Given the description of an element on the screen output the (x, y) to click on. 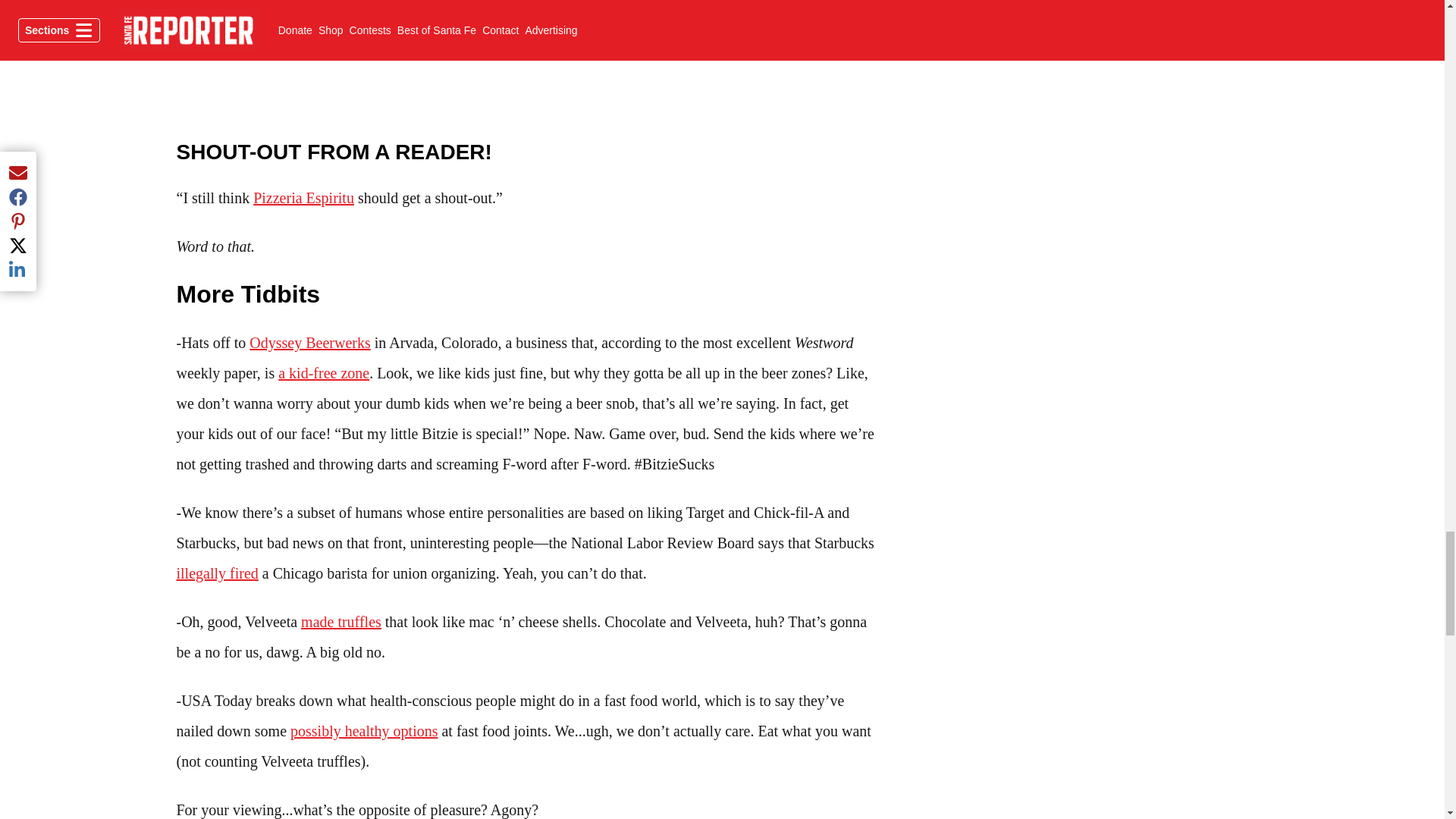
niles order coffee (527, 56)
